Given the description of an element on the screen output the (x, y) to click on. 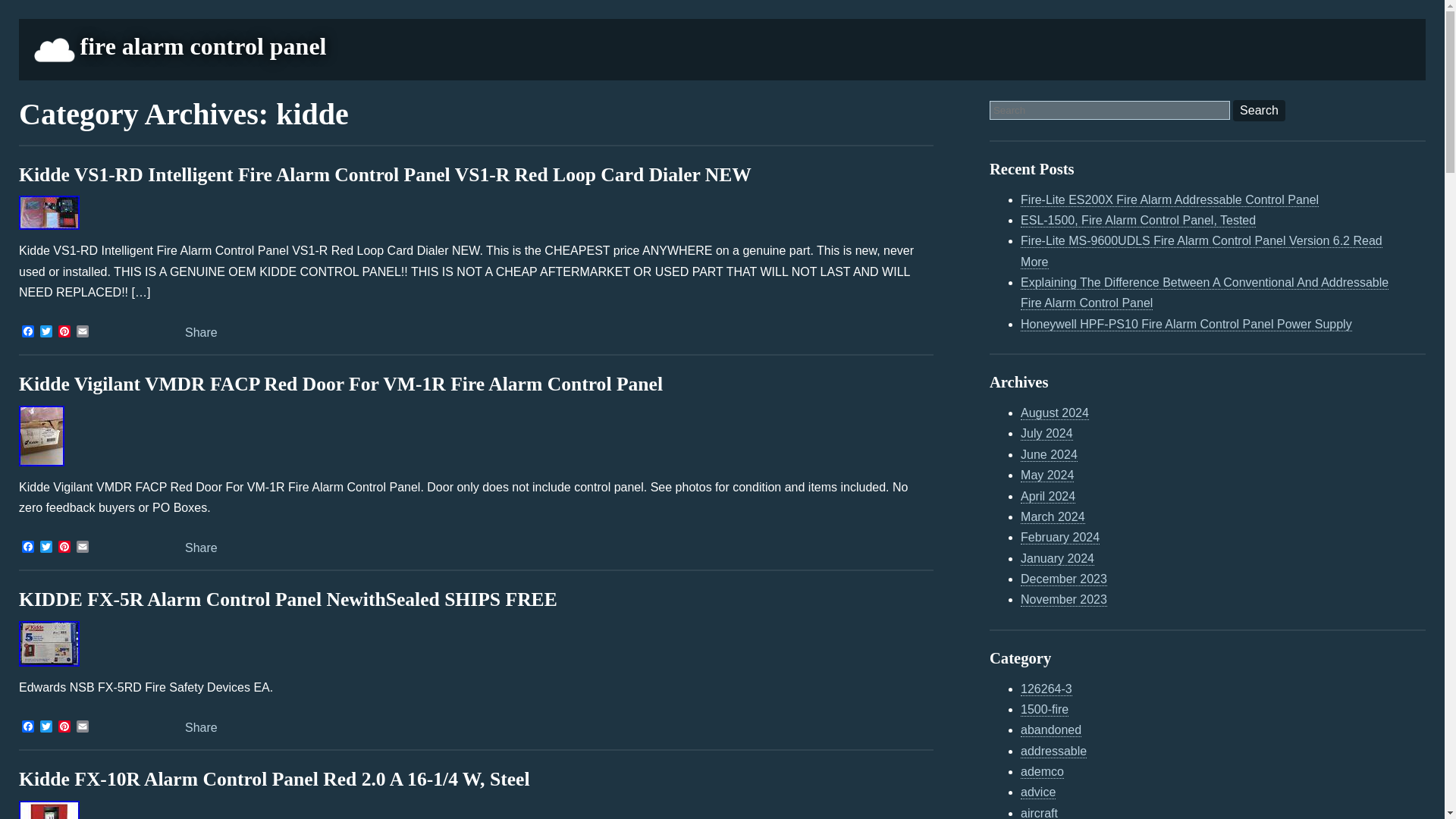
Email (82, 727)
Email (82, 547)
Facebook (27, 547)
Pinterest (64, 547)
Facebook (27, 727)
Pinterest (64, 727)
Facebook (27, 332)
Share (190, 548)
Facebook (27, 727)
Twitter (46, 727)
Facebook (27, 547)
Share (190, 727)
Pinterest (64, 332)
